Given the description of an element on the screen output the (x, y) to click on. 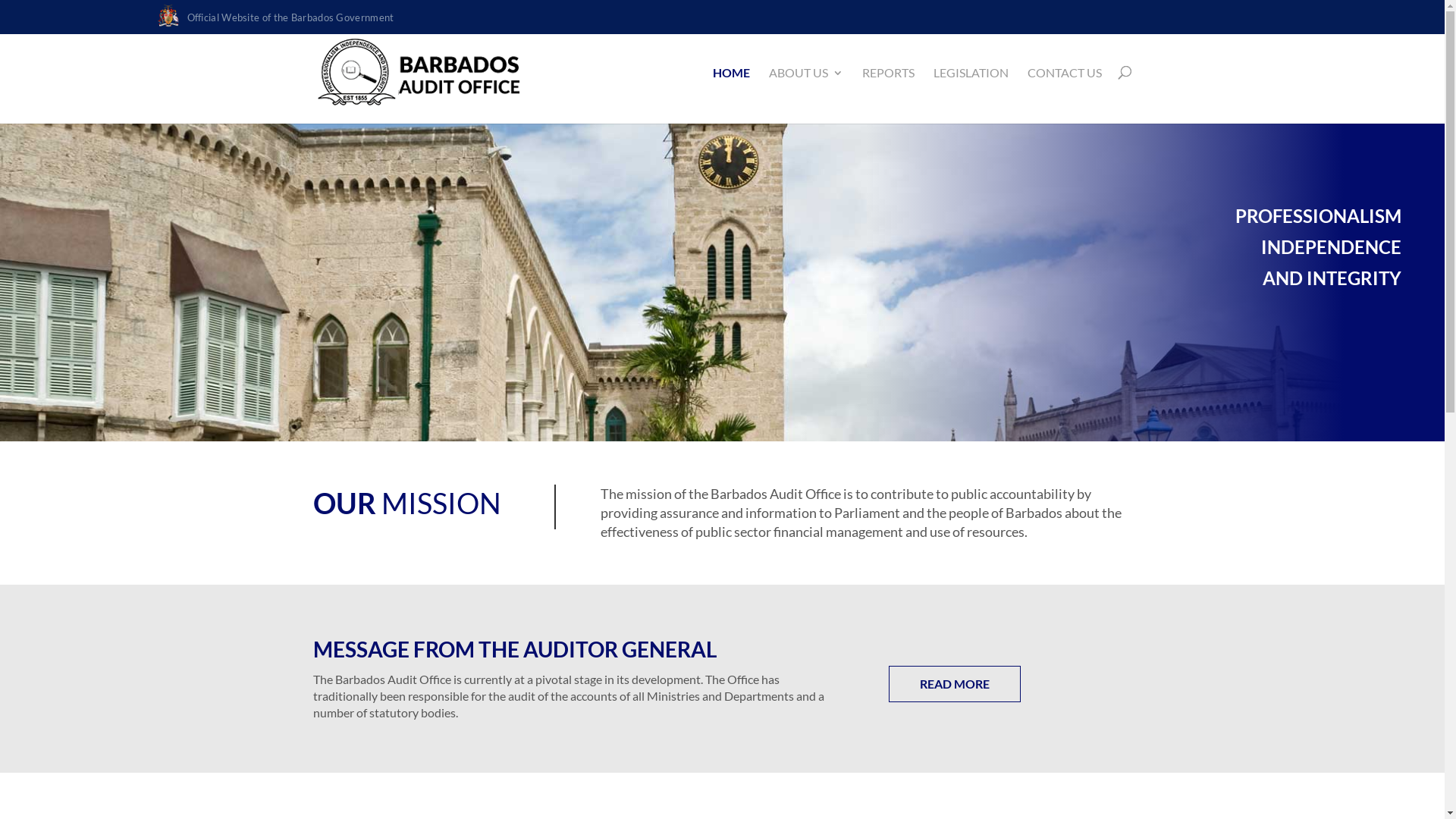
READ MORE Element type: text (954, 683)
REPORTS Element type: text (887, 72)
CONTACT US Element type: text (1063, 72)
HOME Element type: text (730, 72)
LEGISLATION Element type: text (969, 72)
ABOUT US Element type: text (805, 72)
